Given the description of an element on the screen output the (x, y) to click on. 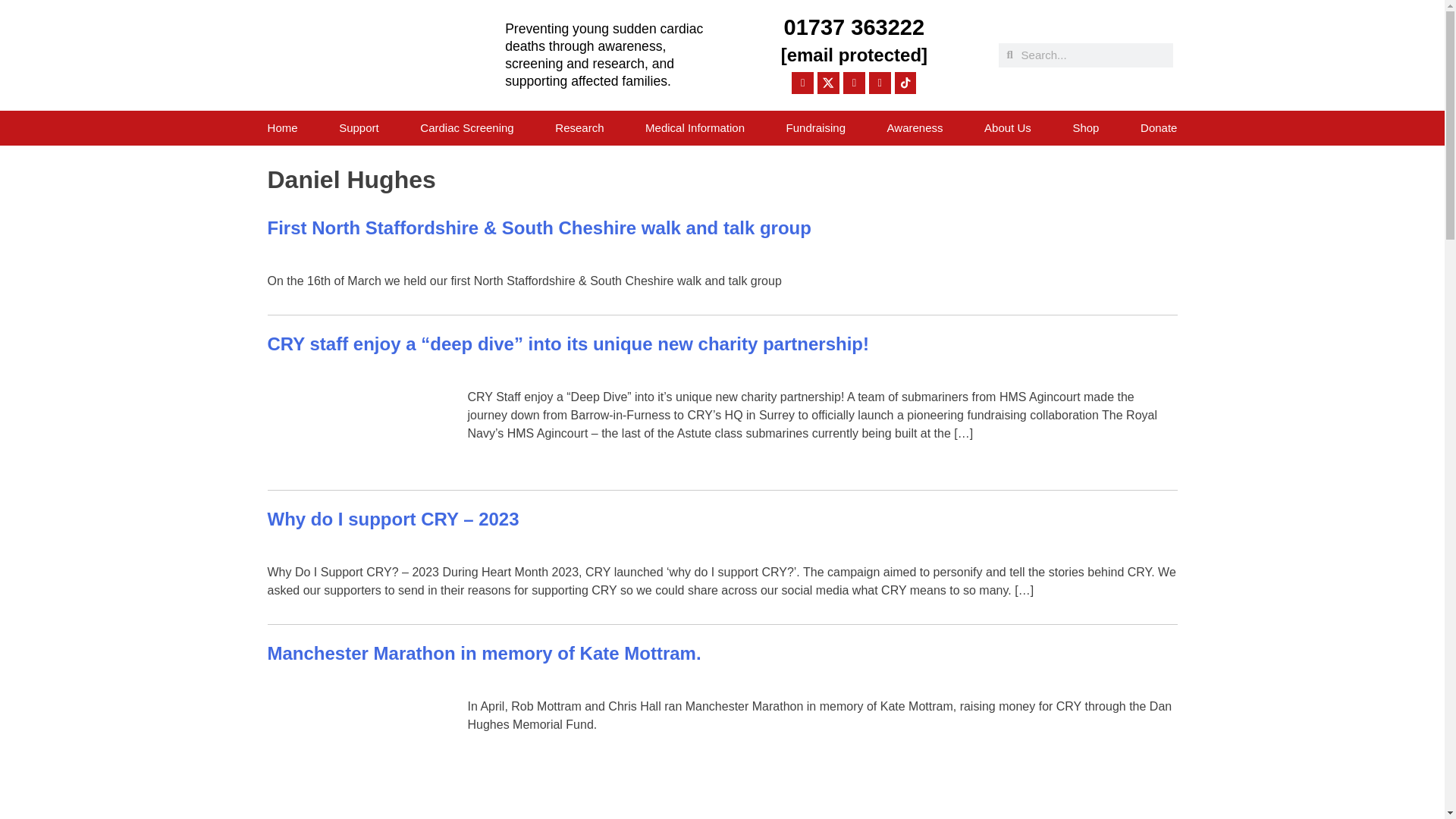
Home (282, 127)
Research (579, 127)
01737 363222 (854, 27)
Support (358, 127)
Fundraising (815, 127)
Medical Information (694, 127)
Cardiac Screening (466, 127)
